Given the description of an element on the screen output the (x, y) to click on. 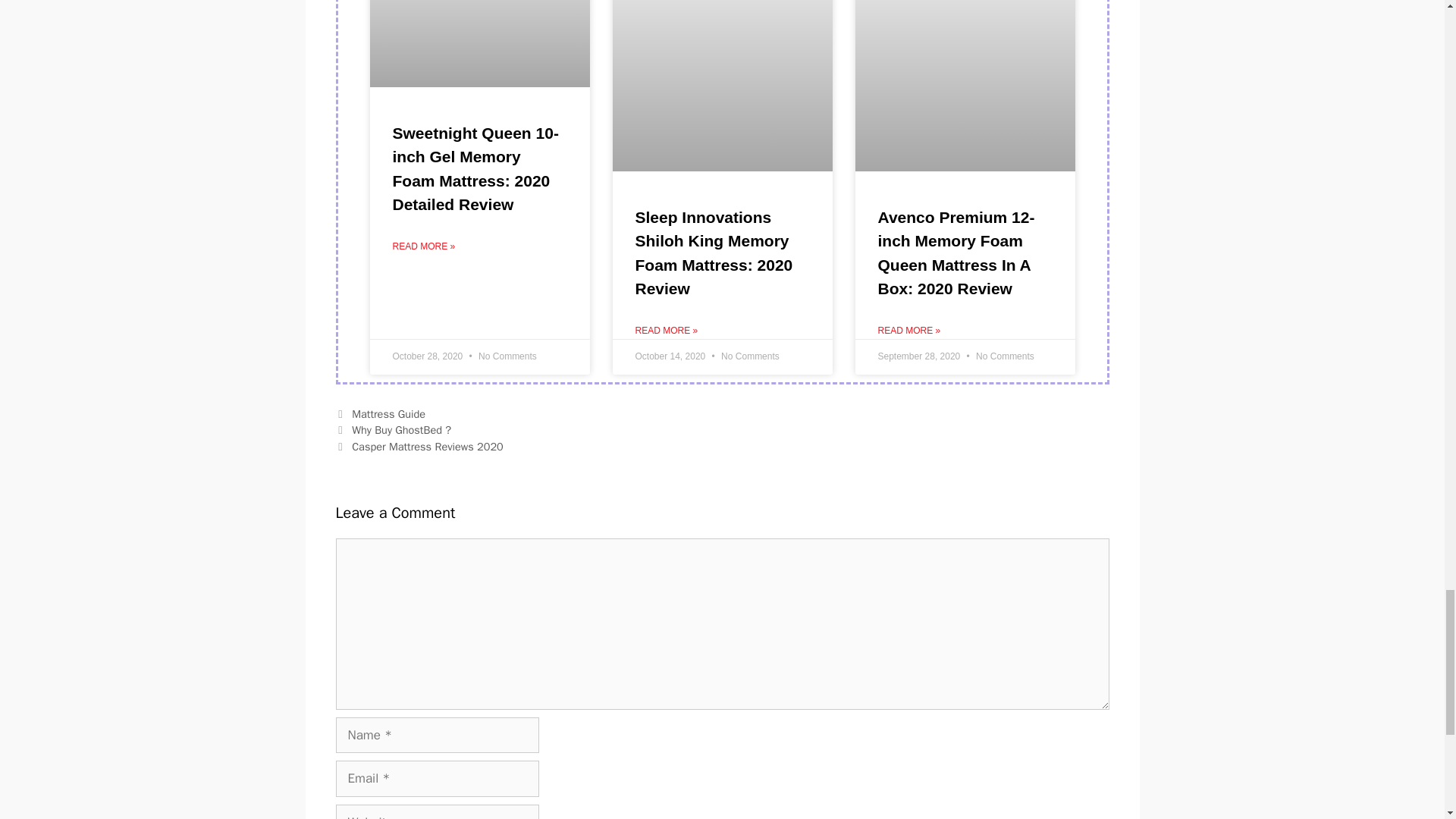
Next (418, 446)
Previous (392, 429)
